Given the description of an element on the screen output the (x, y) to click on. 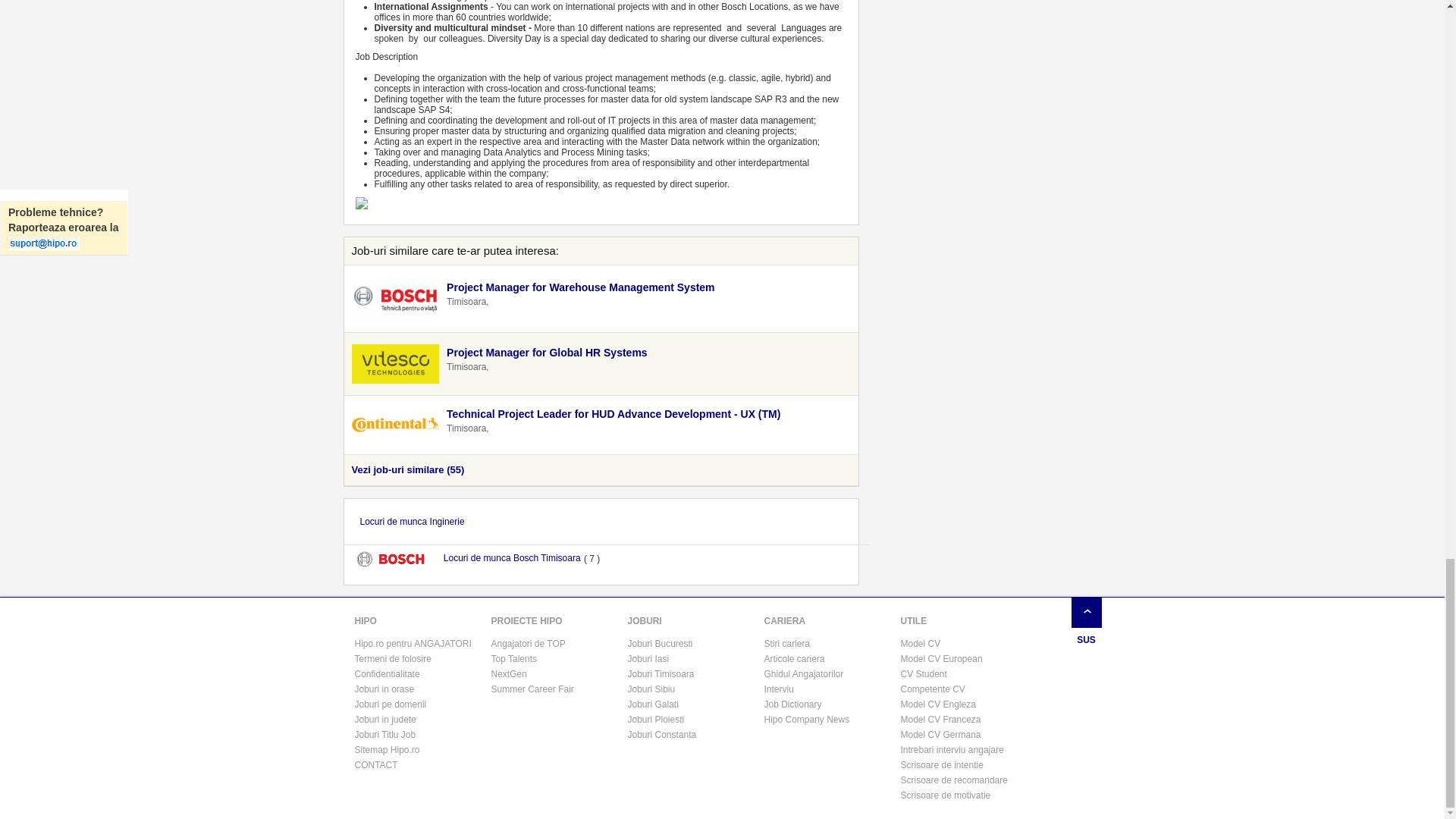
Vitesco Technologies (395, 363)
Locuri de munca Bosch Timisoara (511, 558)
Continental (395, 424)
Locuri de munca Bosch Timisoara (397, 559)
Locuri de munca Inginerie (412, 521)
Bosch Romania (395, 298)
